Given the description of an element on the screen output the (x, y) to click on. 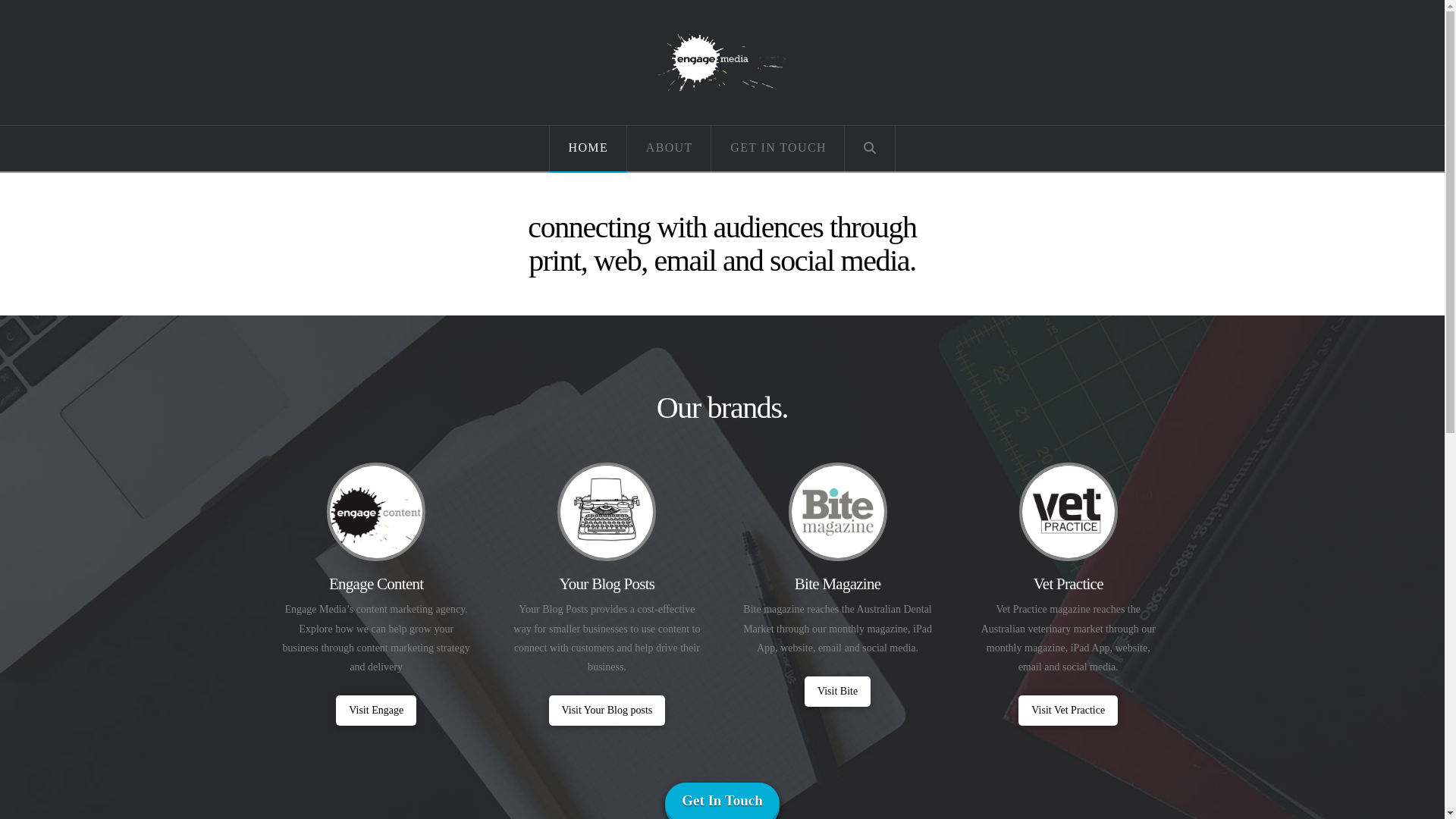
Visit Bite Element type: text (837, 691)
GET IN TOUCH Element type: text (777, 148)
ABOUT Element type: text (669, 148)
Visit Vet Practice Element type: text (1067, 710)
Visit Engage Element type: text (375, 710)
HOME Element type: text (588, 148)
Visit Your Blog posts Element type: text (607, 710)
